Given the description of an element on the screen output the (x, y) to click on. 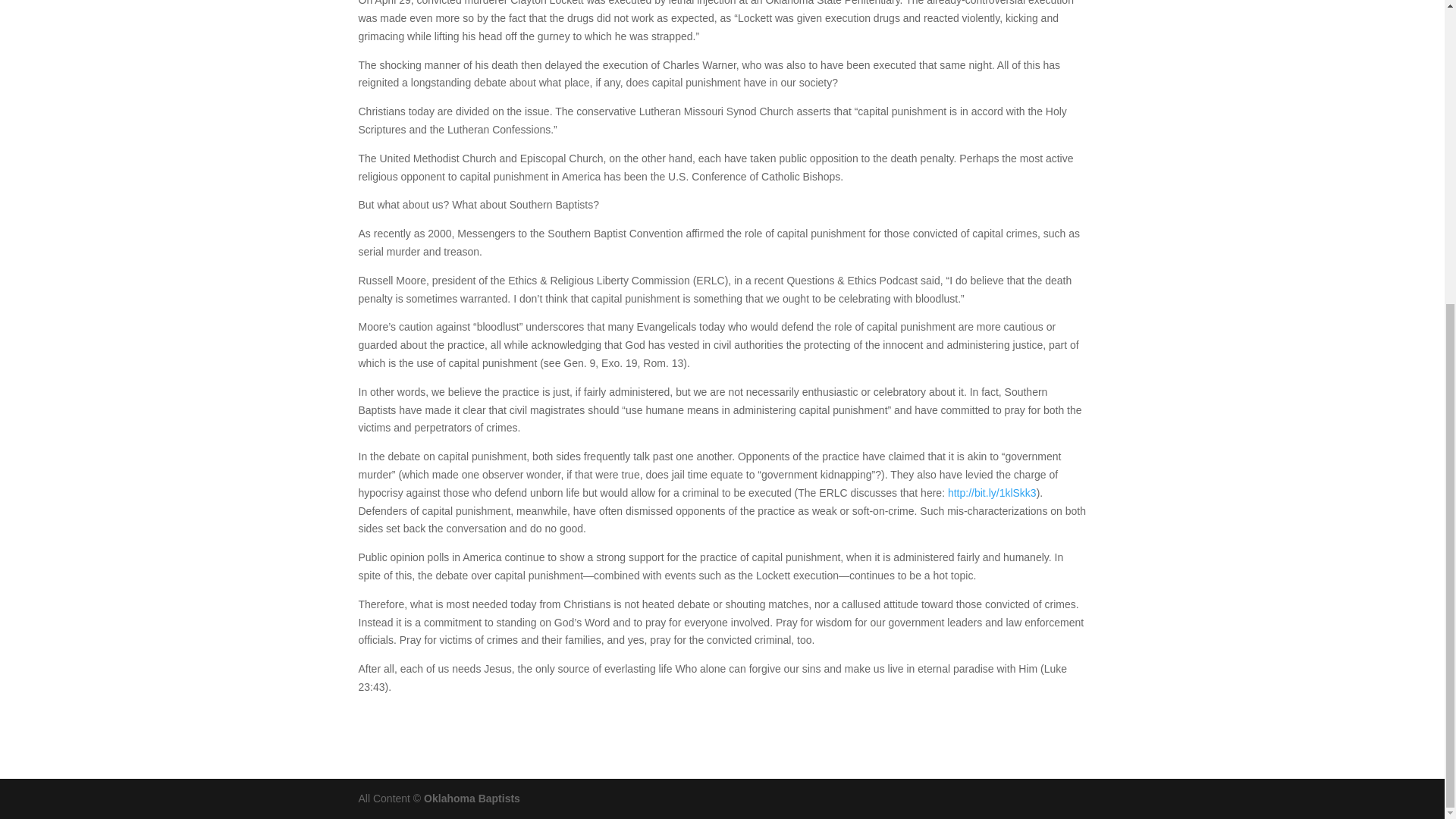
Oklahoma Baptists (471, 798)
